Given the description of an element on the screen output the (x, y) to click on. 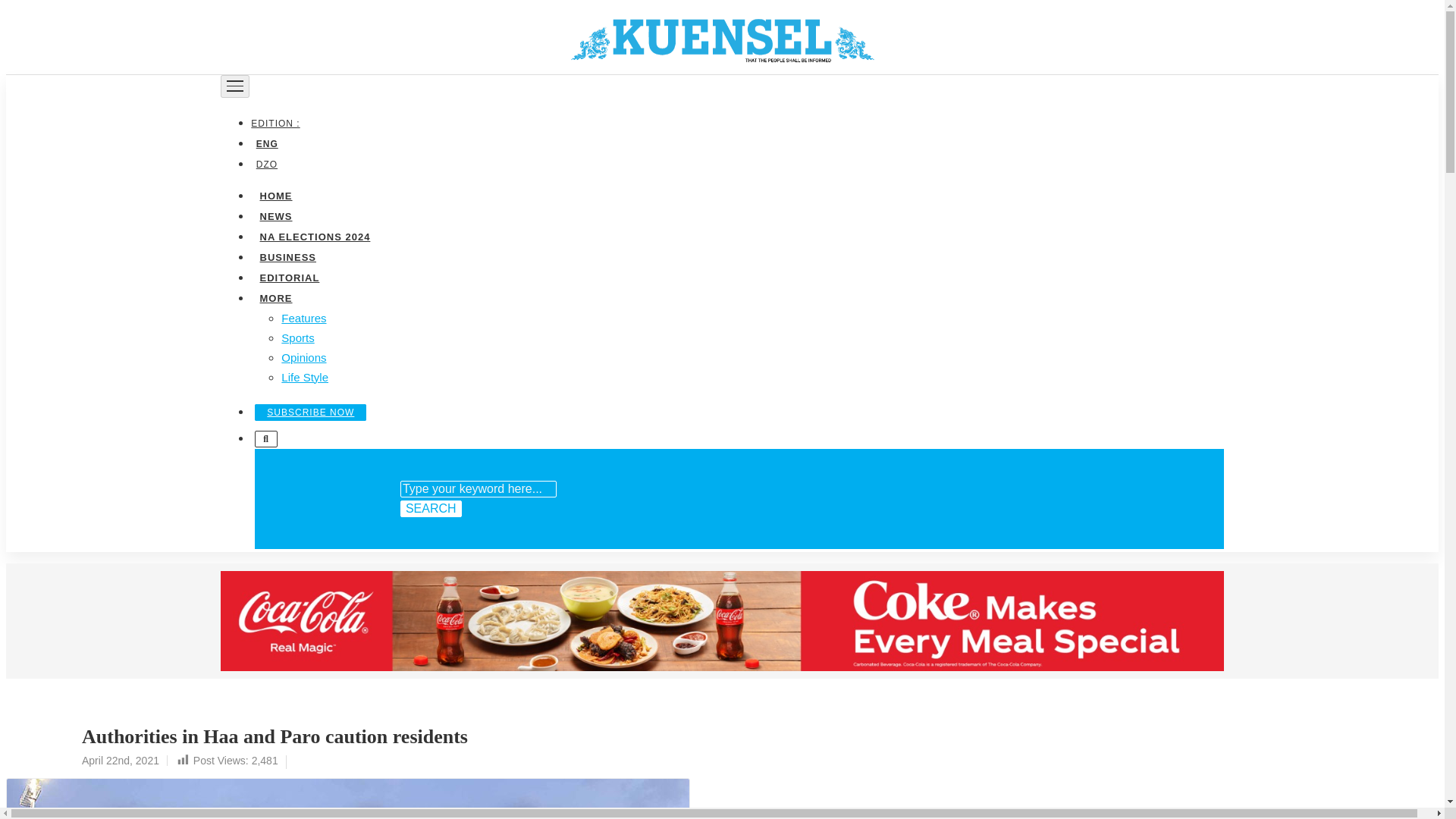
Life Style (305, 376)
DZO (266, 163)
BUSINESS (287, 256)
EDITORIAL (288, 276)
Sports (297, 336)
HOME (274, 194)
EDITION : (277, 122)
MORE (274, 297)
SEARCH (430, 508)
Features (303, 317)
SUBSCRIBE NOW (310, 411)
NA ELECTIONS 2024 (314, 235)
NEWS (274, 215)
Opinions (303, 356)
ENG (266, 143)
